Given the description of an element on the screen output the (x, y) to click on. 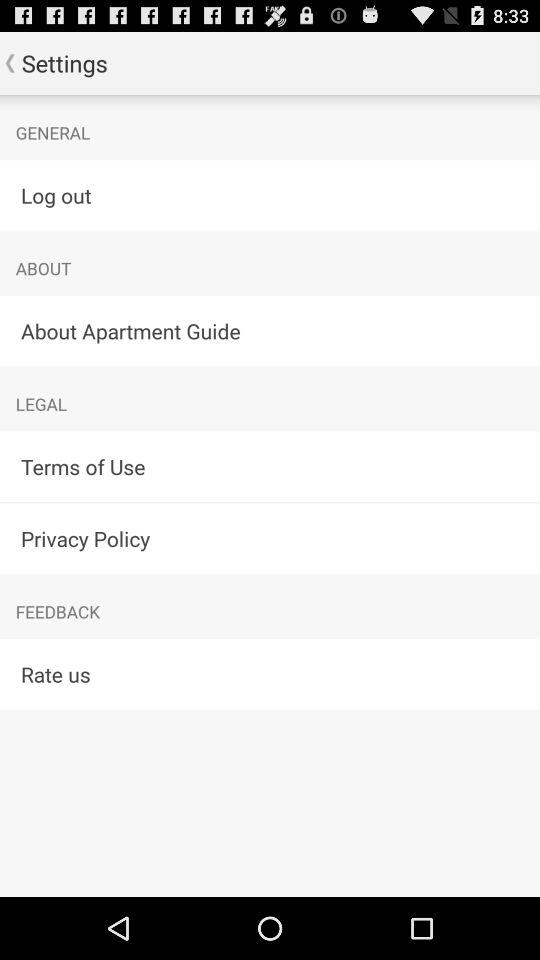
flip until terms of use icon (270, 466)
